Given the description of an element on the screen output the (x, y) to click on. 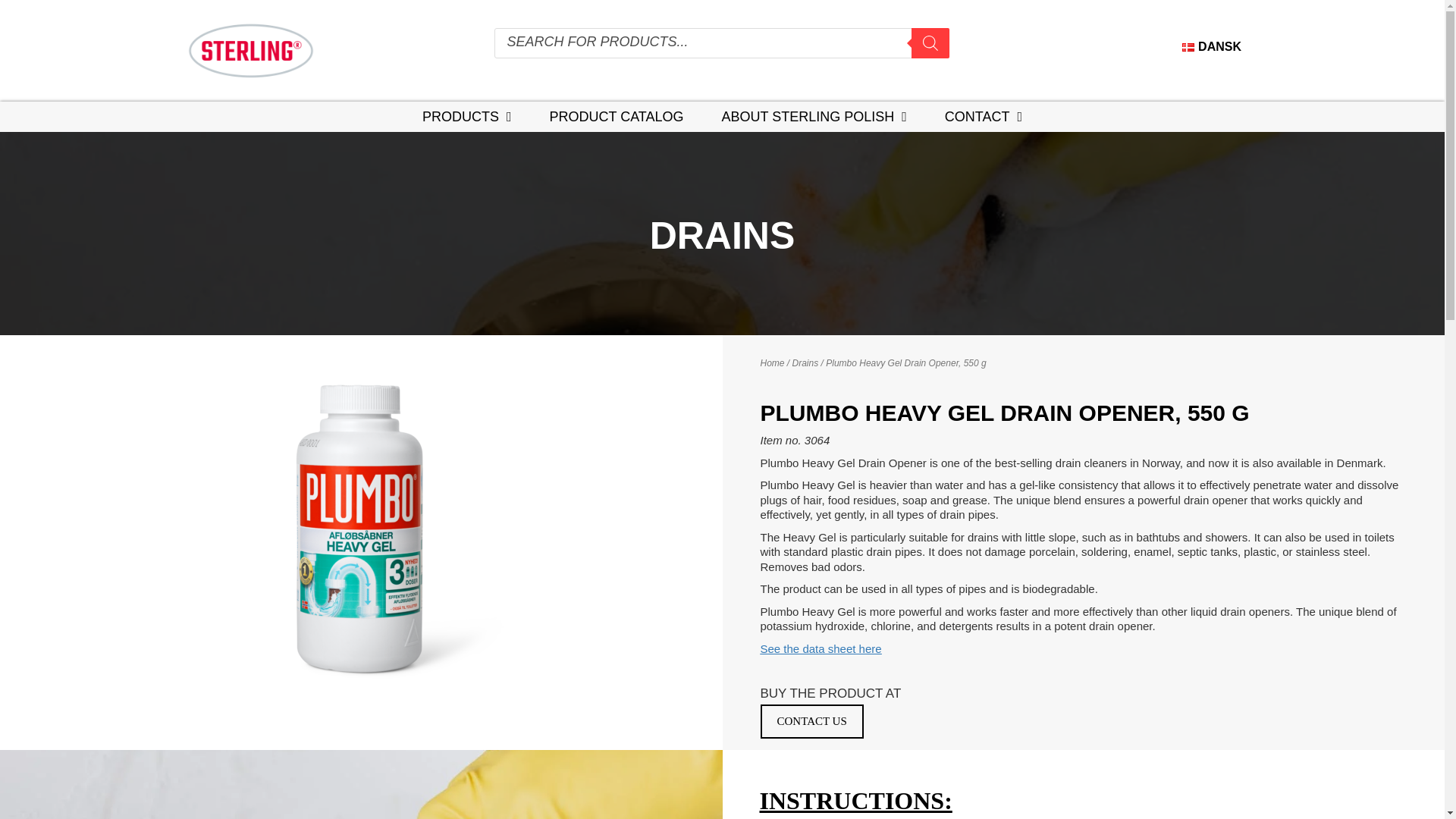
PRODUCTS (467, 116)
PRODUCT CATALOG (615, 116)
ABOUT STERLING POLISH (814, 116)
CONTACT (983, 116)
DANSK (1211, 46)
